Given the description of an element on the screen output the (x, y) to click on. 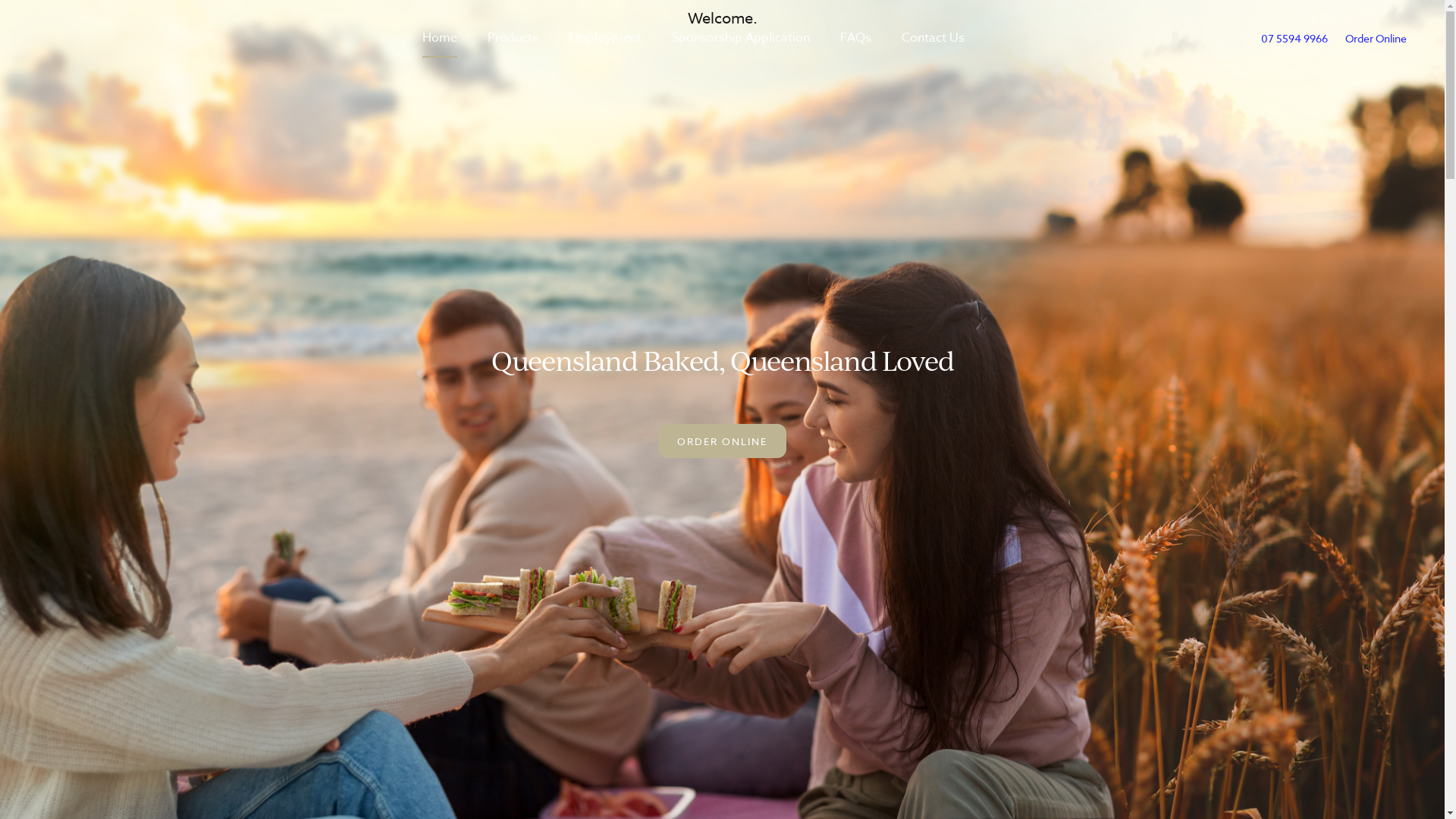
FAQs Element type: text (855, 37)
Sponsorship Application Element type: text (740, 37)
Employment Element type: text (604, 37)
Contact Us Element type: text (932, 37)
ORDER ONLINE Element type: text (722, 440)
Welcome. Element type: text (722, 18)
07 5594 9966 Element type: text (1294, 37)
Products Element type: text (512, 37)
Order Online Element type: text (1375, 37)
Home Element type: text (439, 37)
